Given the description of an element on the screen output the (x, y) to click on. 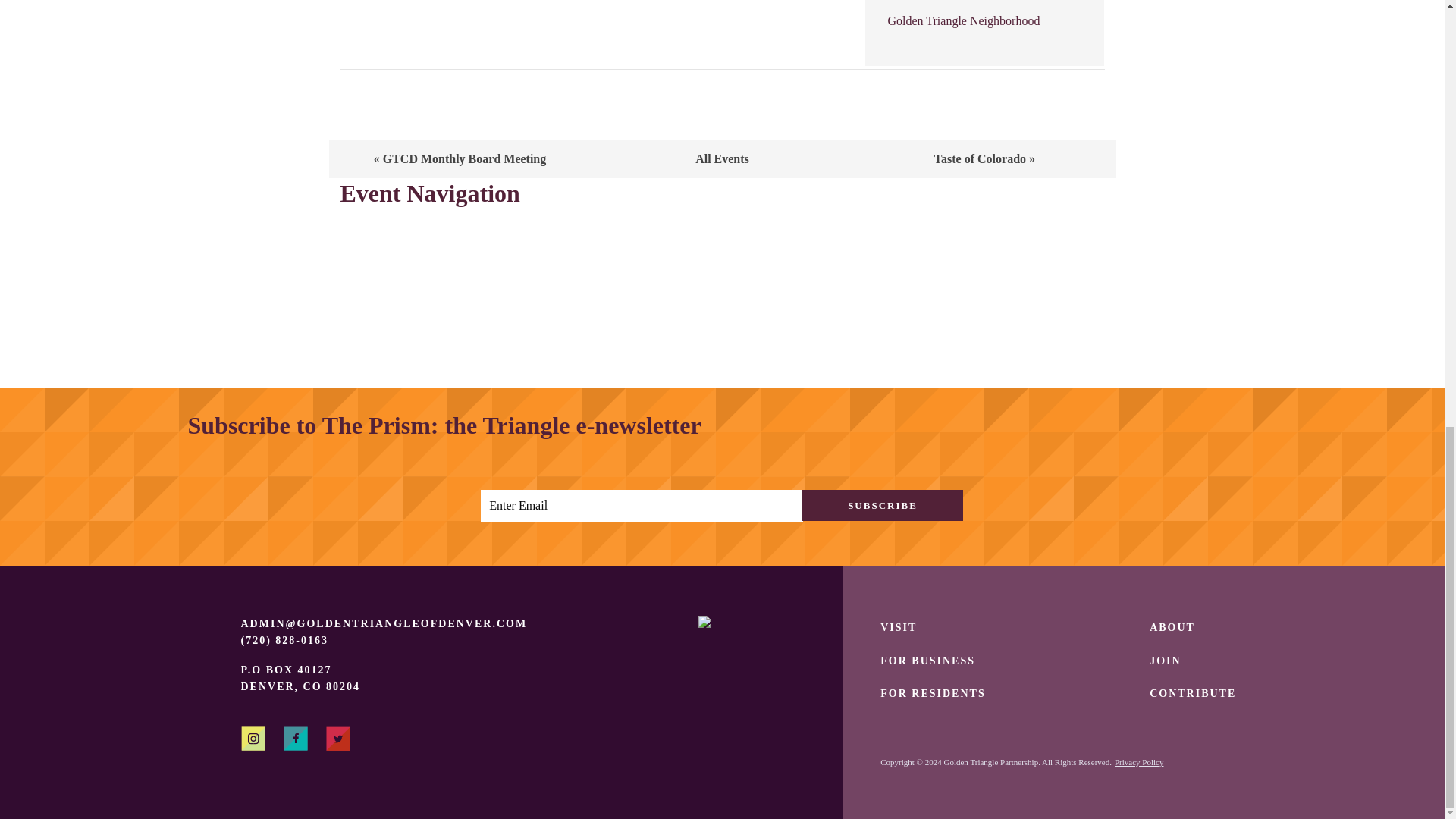
VISIT (898, 627)
Subscribe (882, 504)
FOR BUSINESS (927, 660)
Subscribe (882, 504)
All Events (722, 158)
